Given the description of an element on the screen output the (x, y) to click on. 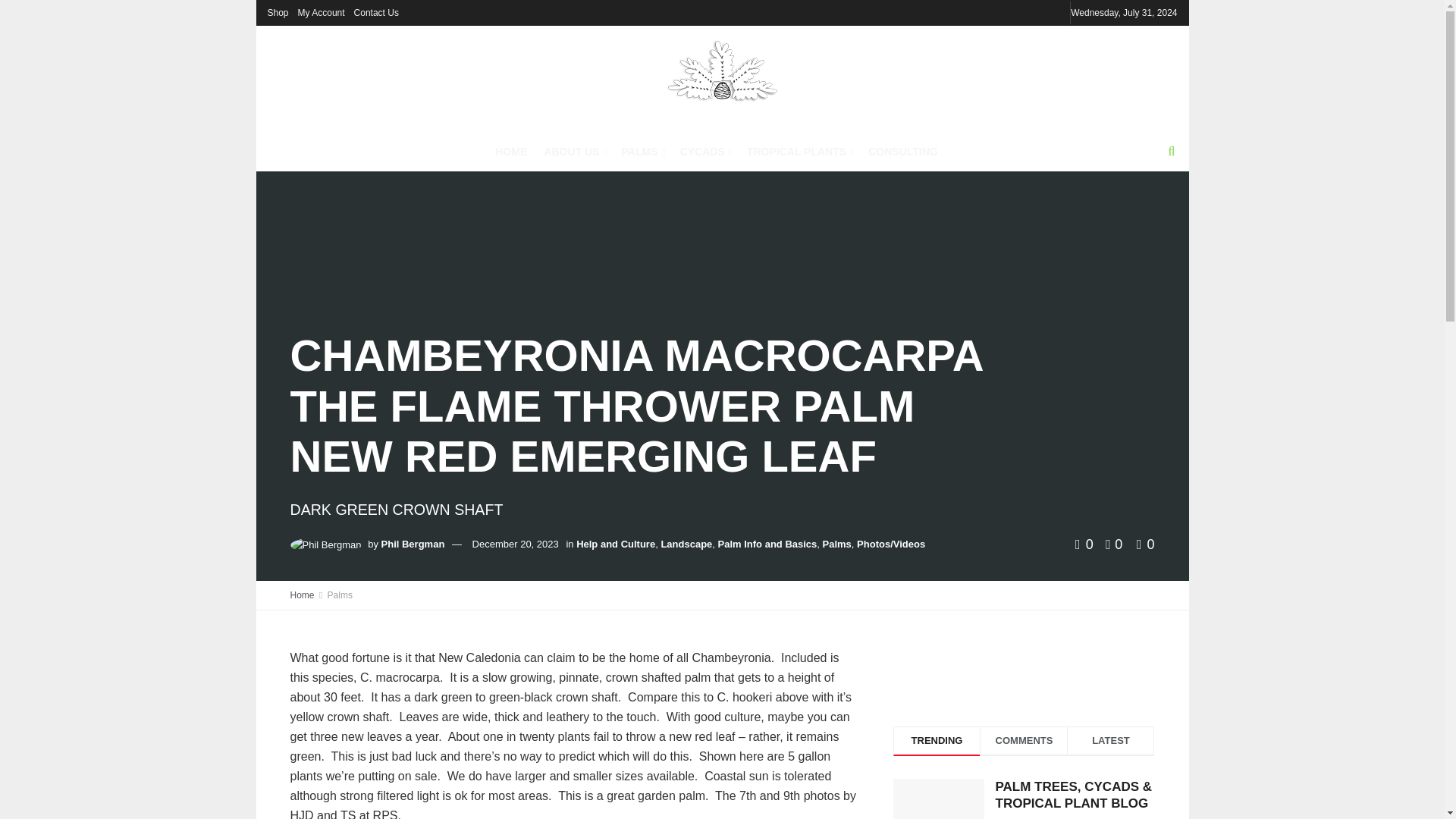
ABOUT US (573, 151)
My Account (321, 12)
Contact Us (375, 12)
PALMS (642, 151)
CYCADS (704, 151)
TROPICAL PLANTS (798, 151)
CONSULTING (902, 151)
HOME (511, 151)
